Given the description of an element on the screen output the (x, y) to click on. 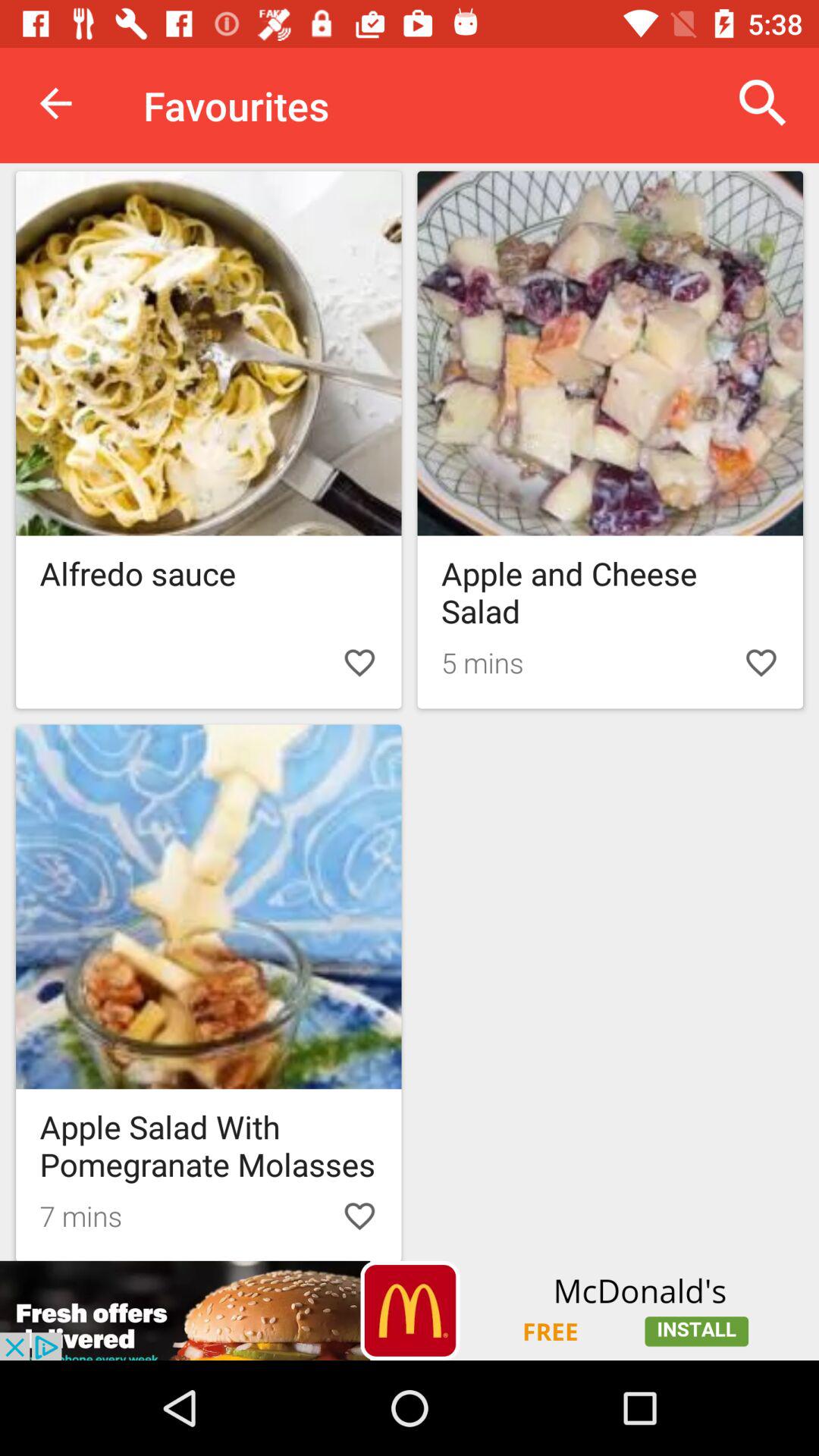
go to advertisement (409, 1310)
